Given the description of an element on the screen output the (x, y) to click on. 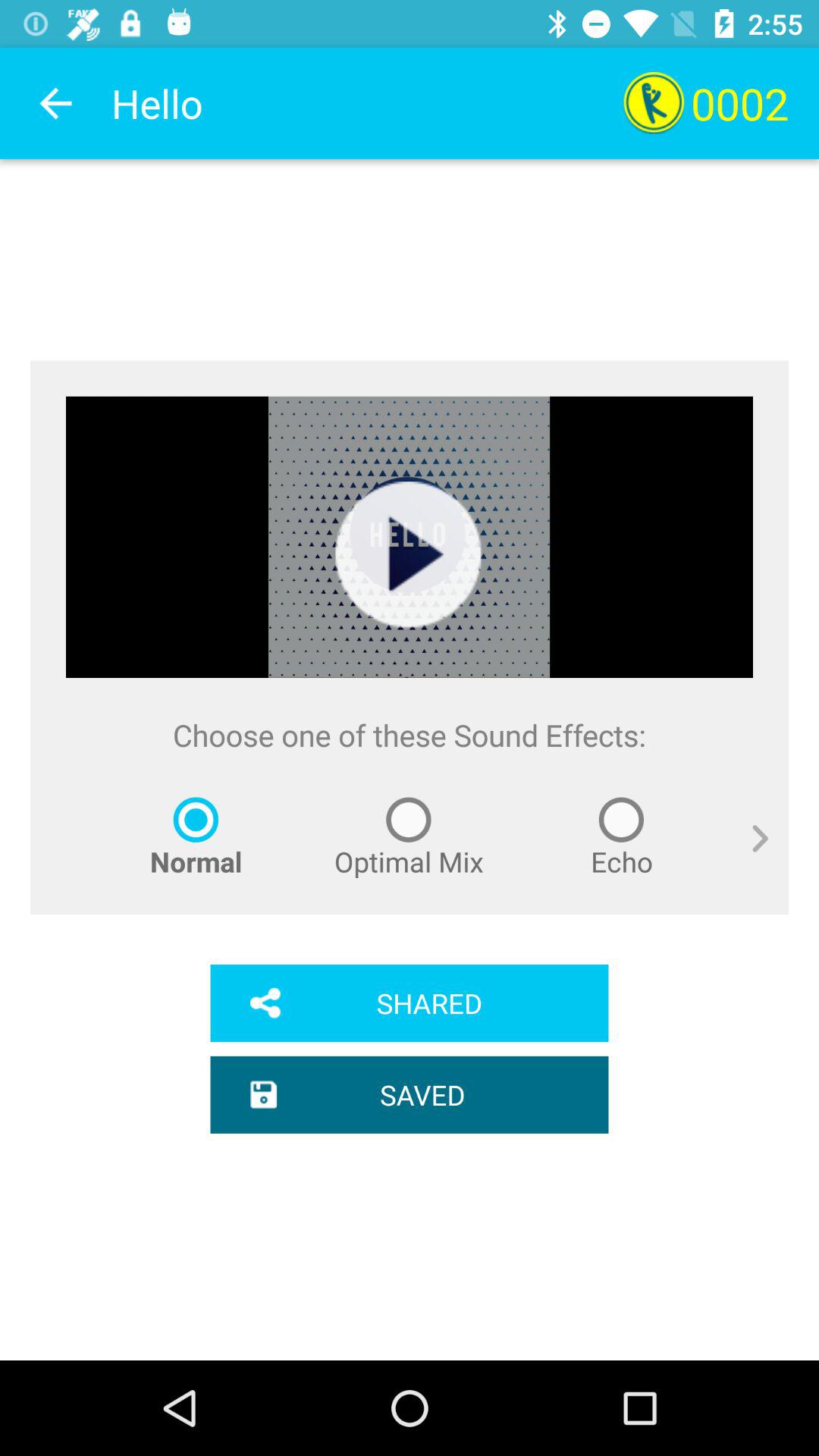
click the app below the shared app (409, 1094)
